Given the description of an element on the screen output the (x, y) to click on. 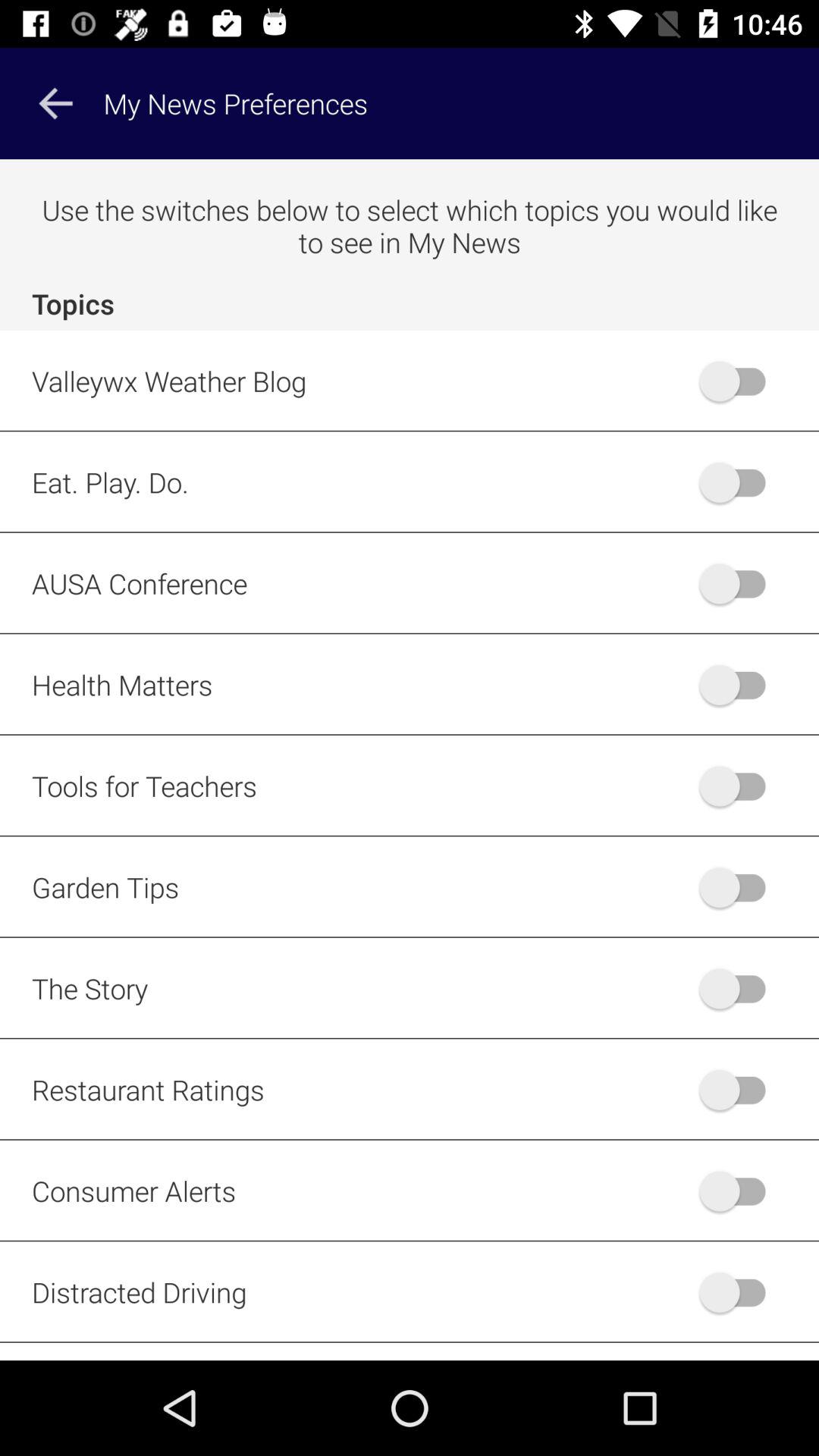
select the linked topic (739, 785)
